Given the description of an element on the screen output the (x, y) to click on. 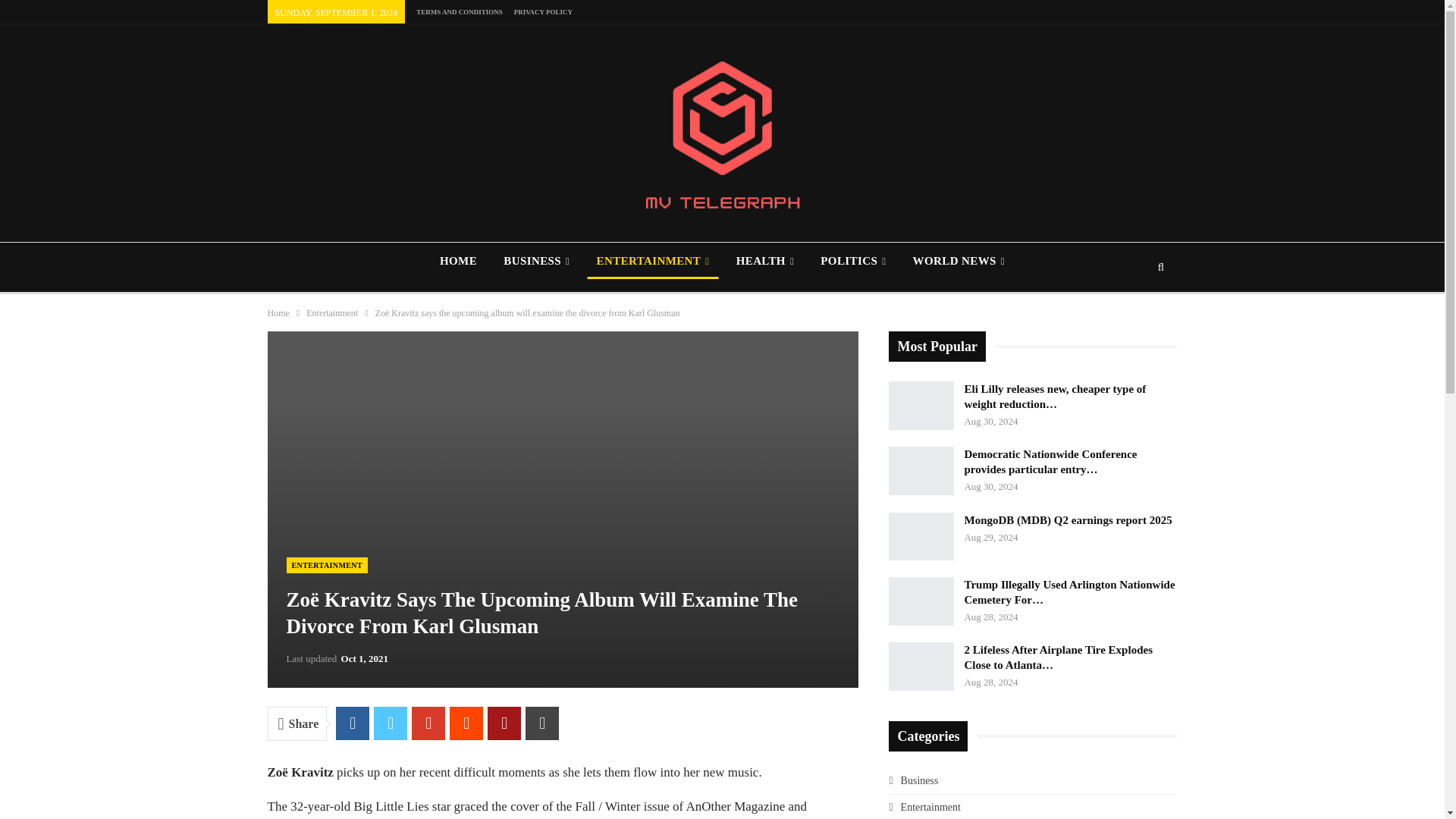
BUSINESS (536, 260)
HEALTH (764, 260)
ENTERTAINMENT (651, 260)
PRIVACY POLICY (542, 11)
HOME (458, 260)
TERMS AND CONDITIONS (459, 11)
